Given the description of an element on the screen output the (x, y) to click on. 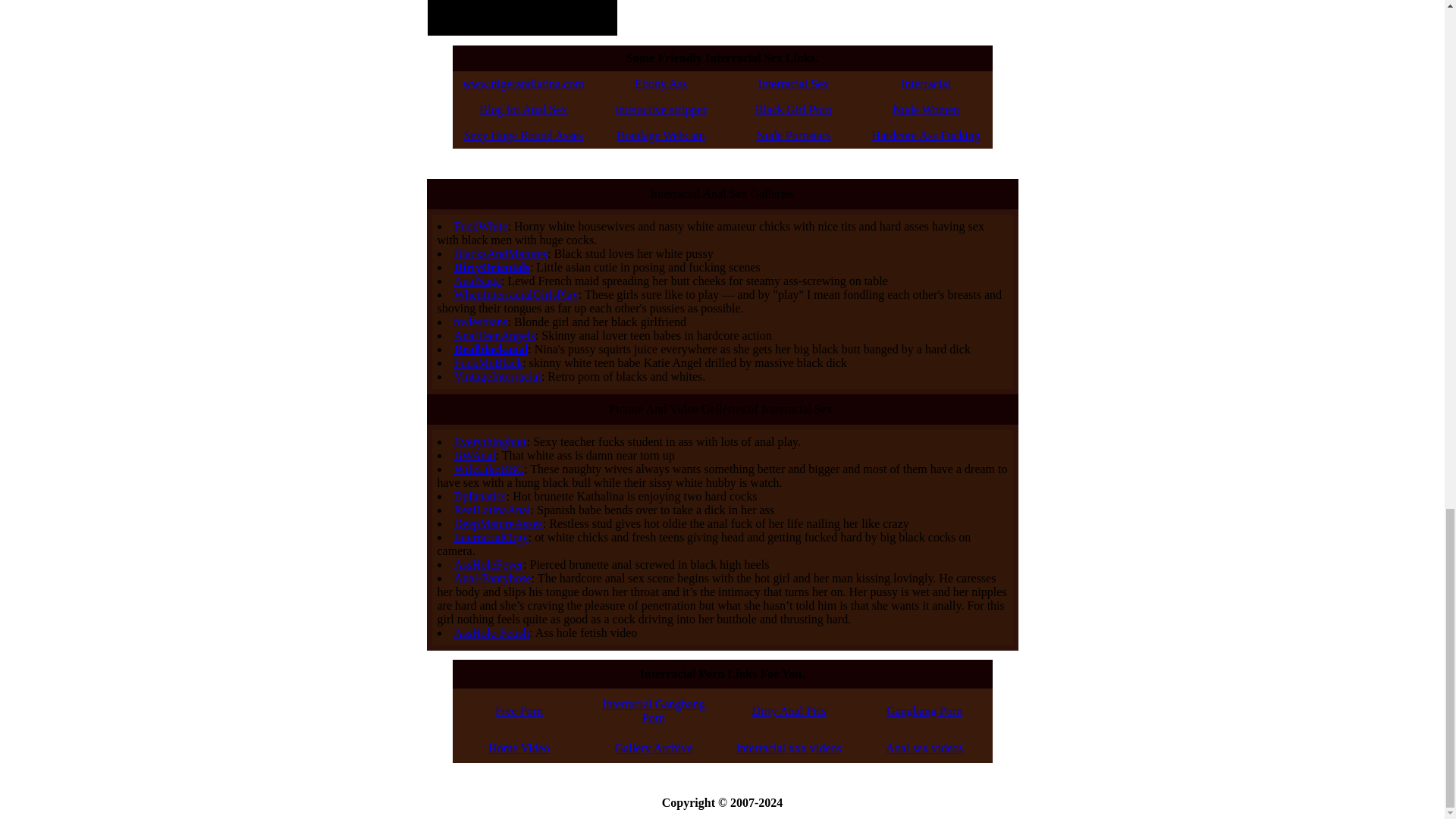
Black Girl Porn (793, 109)
Ebony Ass (660, 83)
www.nigerandlatina.com (524, 83)
interactive stripper (660, 109)
ebony ass (660, 83)
www.nigerandlatina.com (524, 83)
I Love Interracial (925, 83)
interracial sex (793, 83)
Nude Women (925, 109)
Blog for Anal Sex (523, 109)
